Given the description of an element on the screen output the (x, y) to click on. 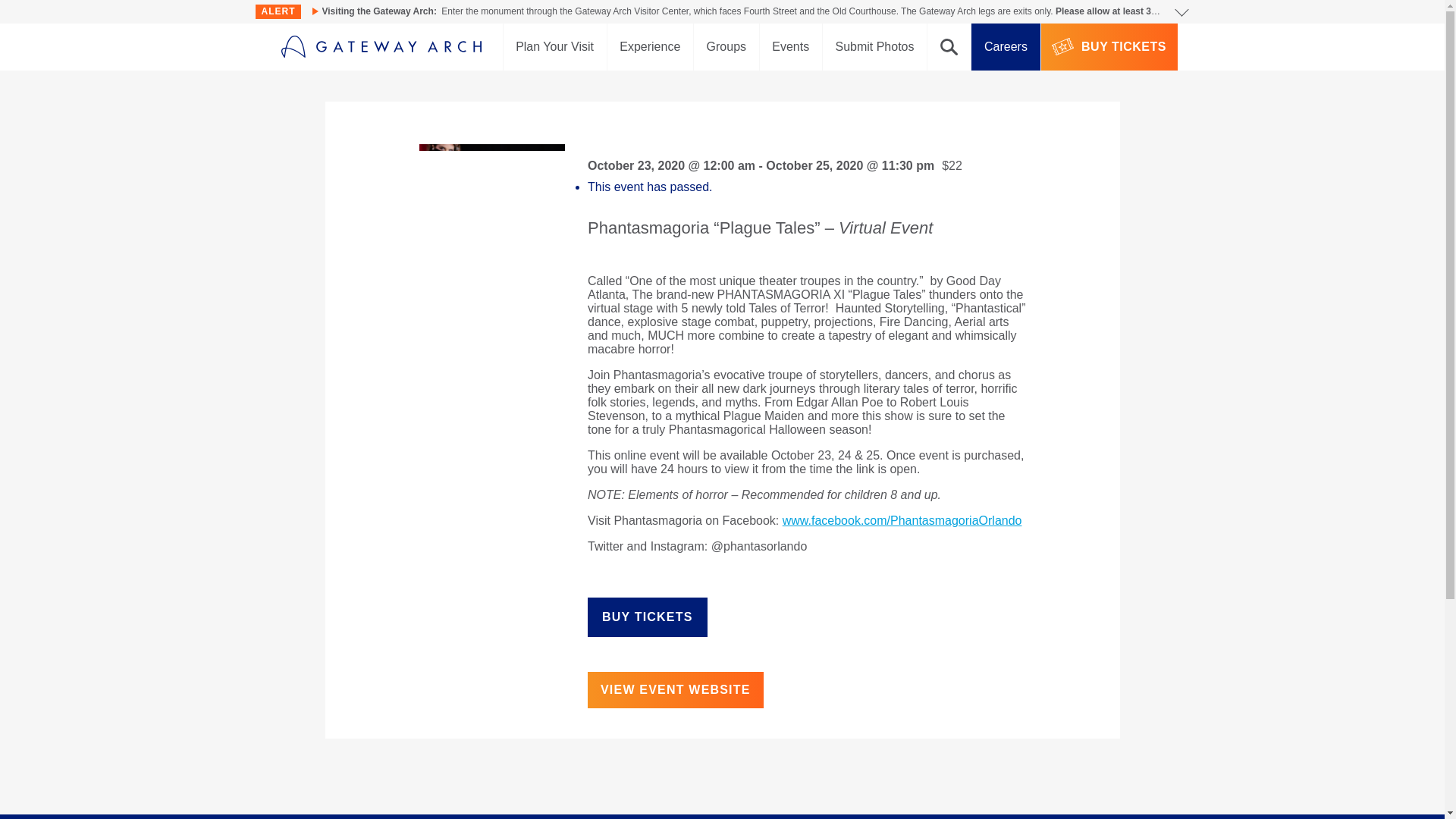
BUY TICKETS (1108, 46)
Submit Photos (874, 46)
VIEW EVENT WEBSITE (675, 689)
Experience (650, 46)
Plan Your Visit (555, 46)
Careers (1005, 46)
Groups (726, 46)
BUY TICKETS (647, 617)
Search (949, 46)
Events (791, 46)
